Given the description of an element on the screen output the (x, y) to click on. 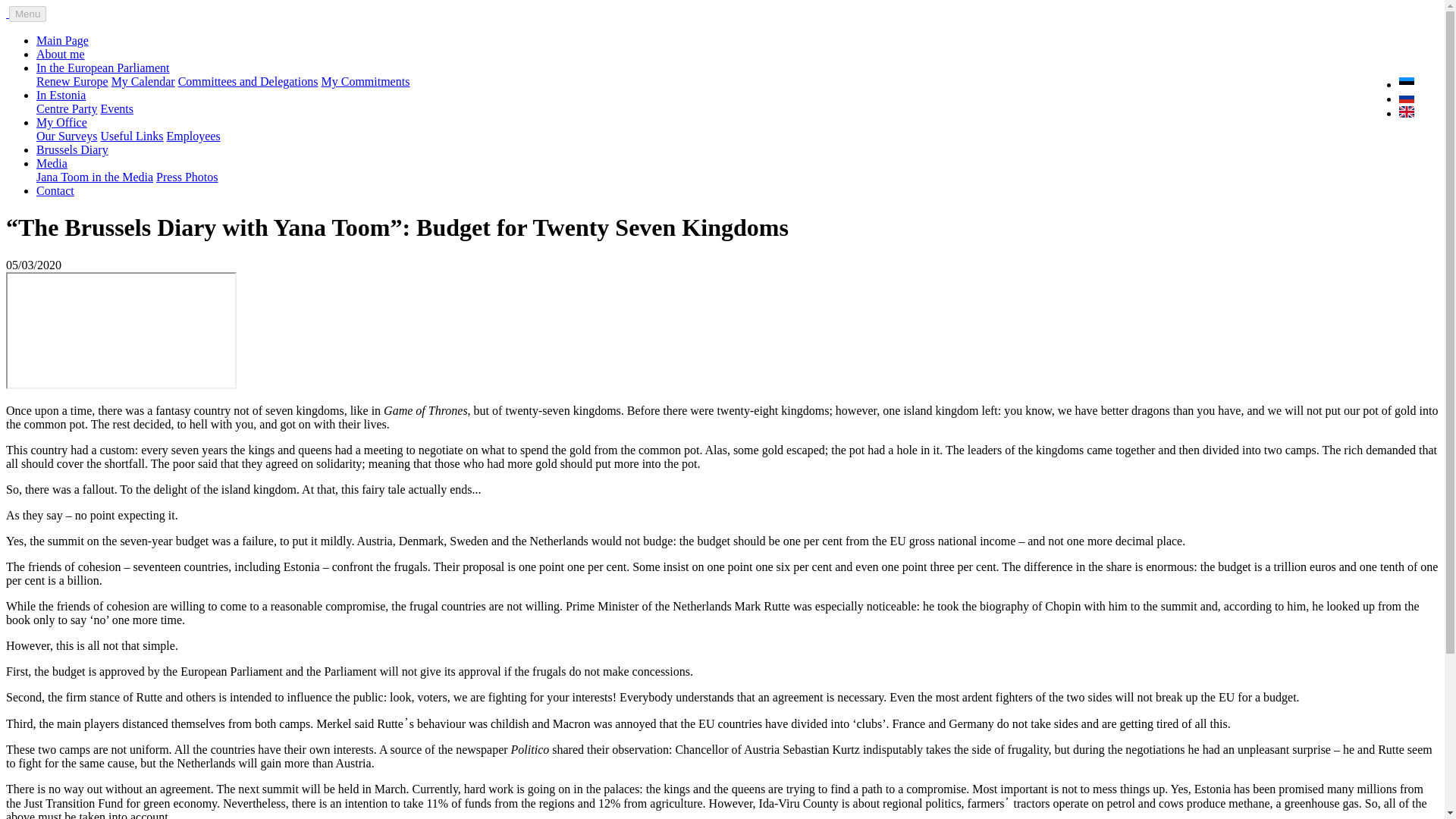
Main Page (62, 40)
My Commitments (364, 81)
Centre Party (66, 108)
Our Surveys (66, 135)
Contact (55, 190)
Events (116, 108)
Media (51, 163)
My Calendar (143, 81)
Committees and Delegations (247, 81)
My Office (61, 122)
Menu (27, 13)
Press Photos (185, 176)
Brussels Diary (71, 149)
Useful Links (131, 135)
In Estonia (60, 94)
